Given the description of an element on the screen output the (x, y) to click on. 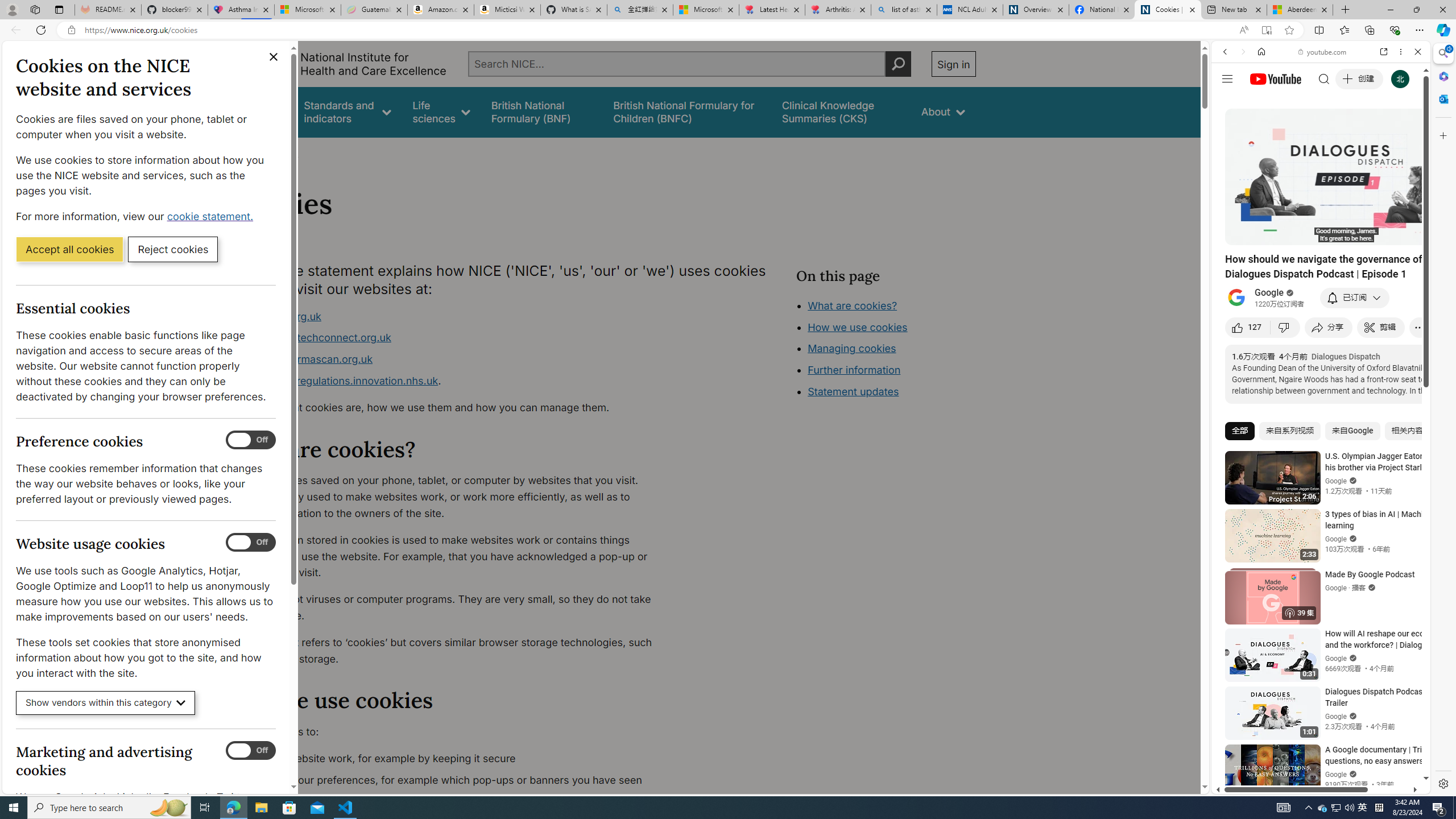
Side bar (1443, 418)
#you (1320, 253)
Cookies | About | NICE (1167, 9)
www.healthtechconnect.org.uk (452, 338)
About (283, 152)
Class: in-page-nav__list (884, 349)
Life sciences (440, 111)
Further information (854, 369)
Statement updates (853, 391)
